Given the description of an element on the screen output the (x, y) to click on. 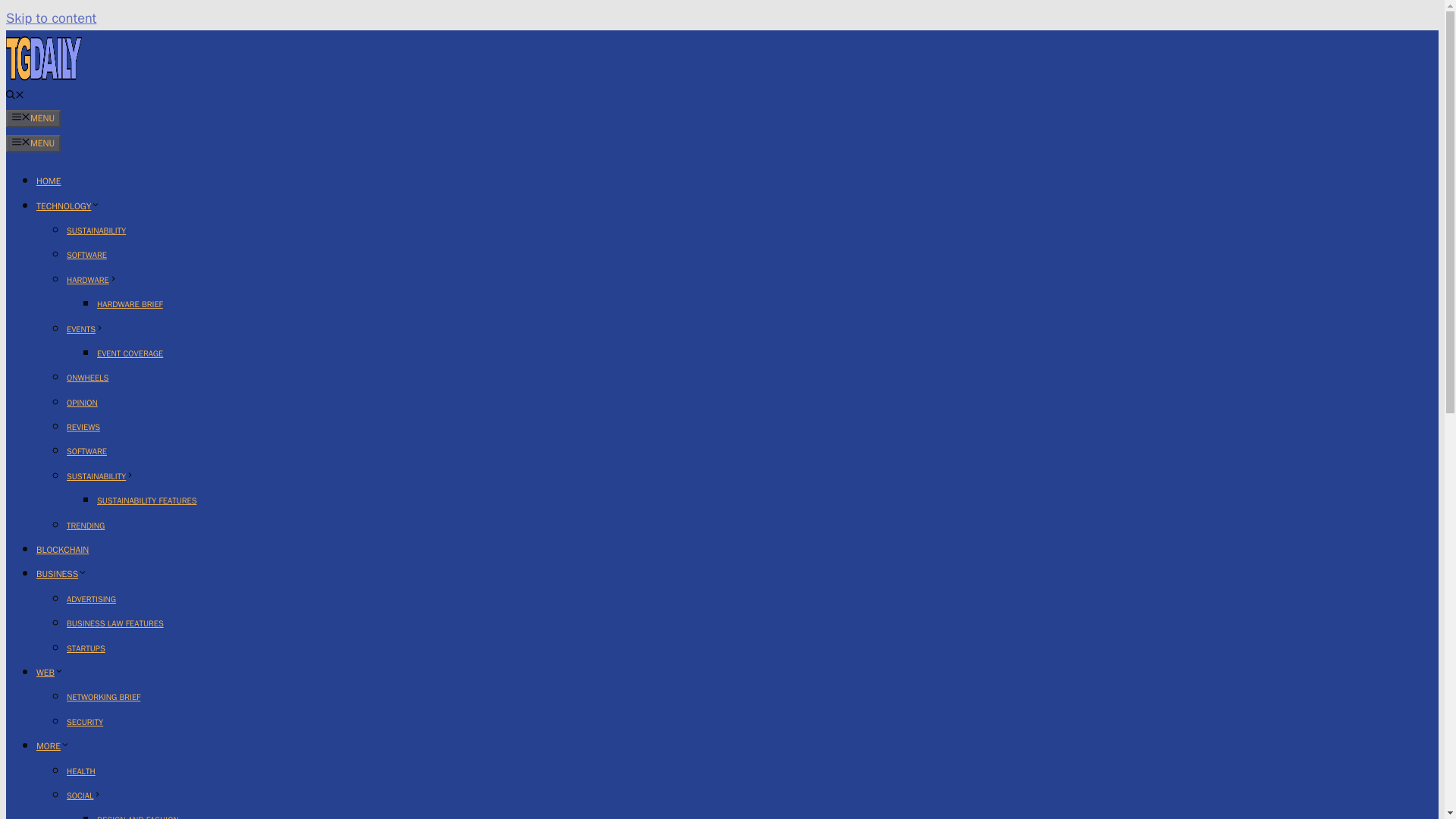
SOFTWARE (86, 450)
ADVERTISING (91, 598)
NETWORKING BRIEF (102, 696)
HOME (48, 181)
MENU (33, 143)
SUSTAINABILITY (99, 475)
ONWHEELS (86, 377)
SOFTWARE (86, 254)
BUSINESS LAW FEATURES (114, 623)
BUSINESS (61, 573)
DESIGN AND FASHION (138, 816)
SECURITY (84, 721)
WEB (50, 672)
EVENTS (84, 327)
EVENT COVERAGE (130, 353)
